Given the description of an element on the screen output the (x, y) to click on. 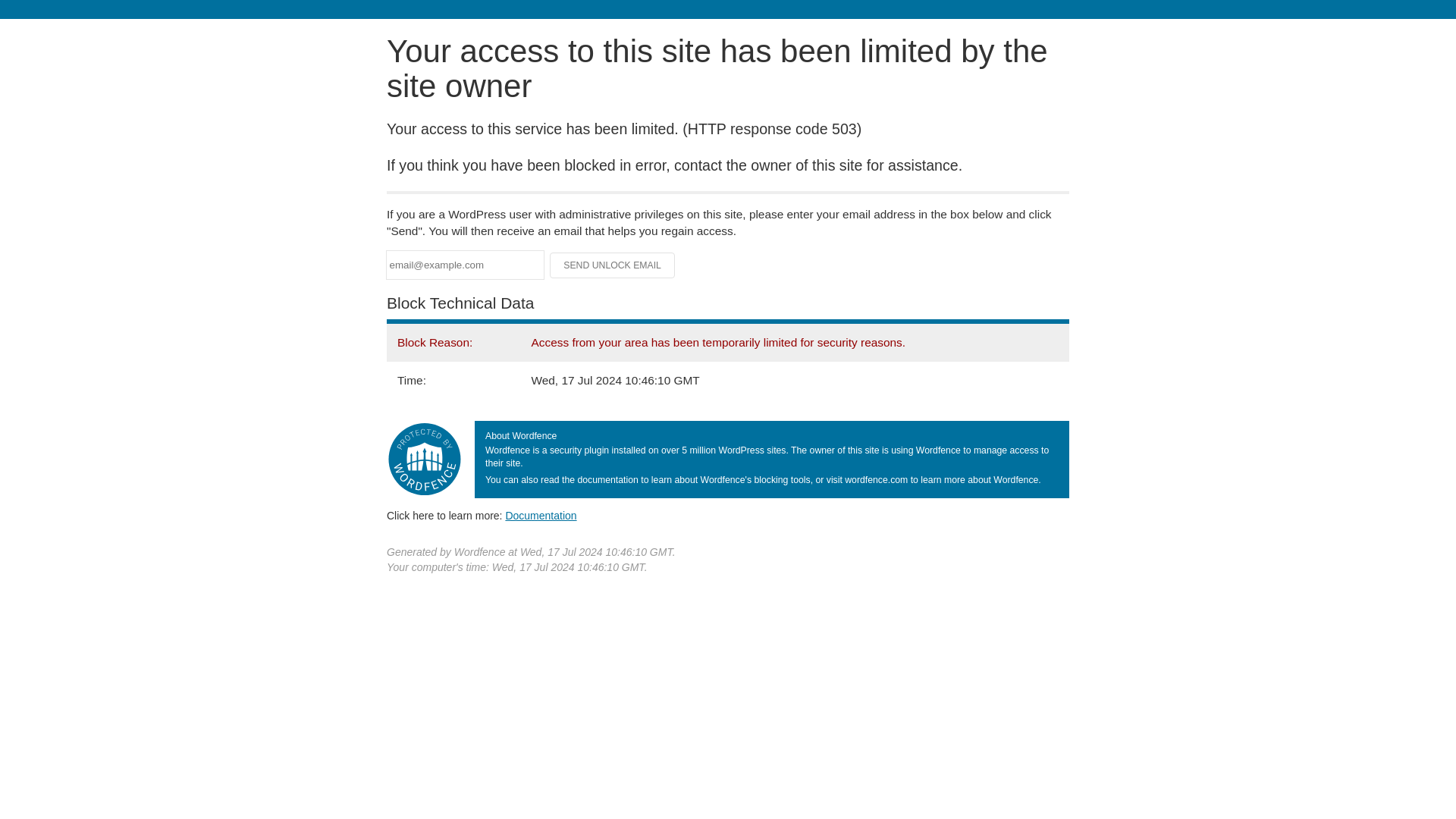
Documentation (540, 515)
Send Unlock Email (612, 265)
Send Unlock Email (612, 265)
